Given the description of an element on the screen output the (x, y) to click on. 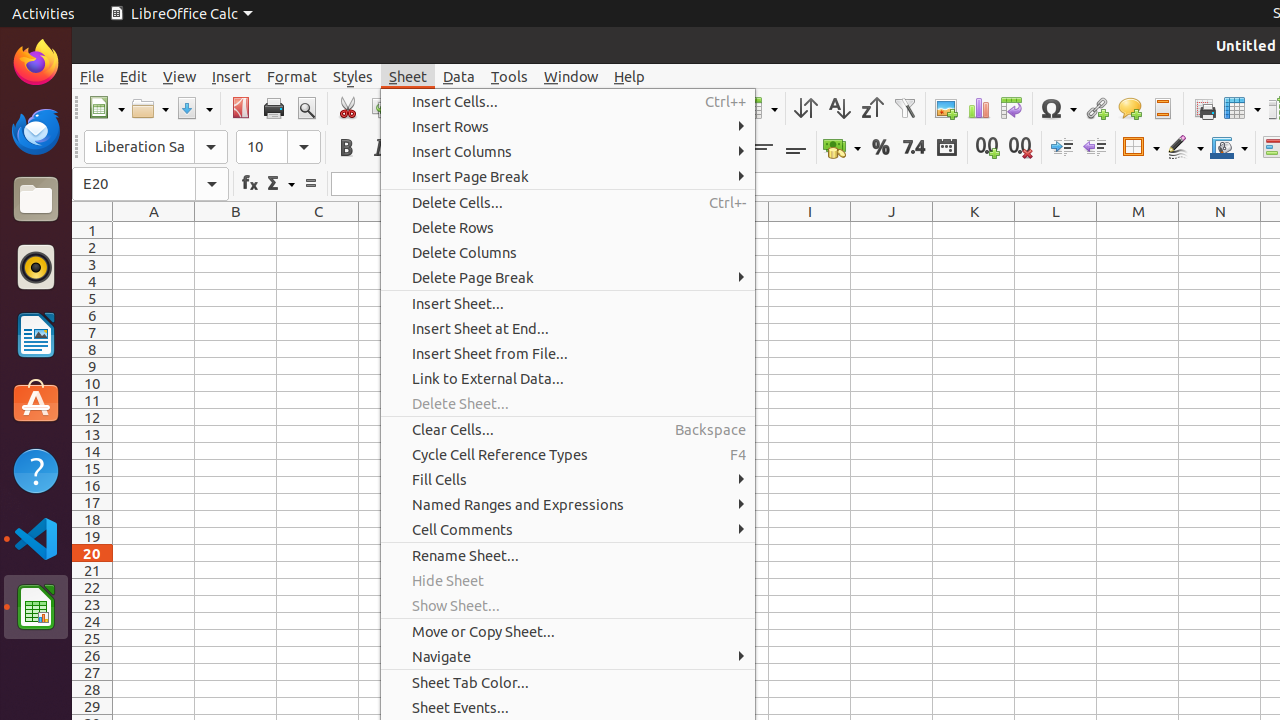
New Element type: push-button (106, 108)
Rename Sheet... Element type: menu-item (568, 555)
Add Decimal Place Element type: push-button (987, 147)
Insert Element type: menu (231, 76)
Cell Comments Element type: menu (568, 529)
